Given the description of an element on the screen output the (x, y) to click on. 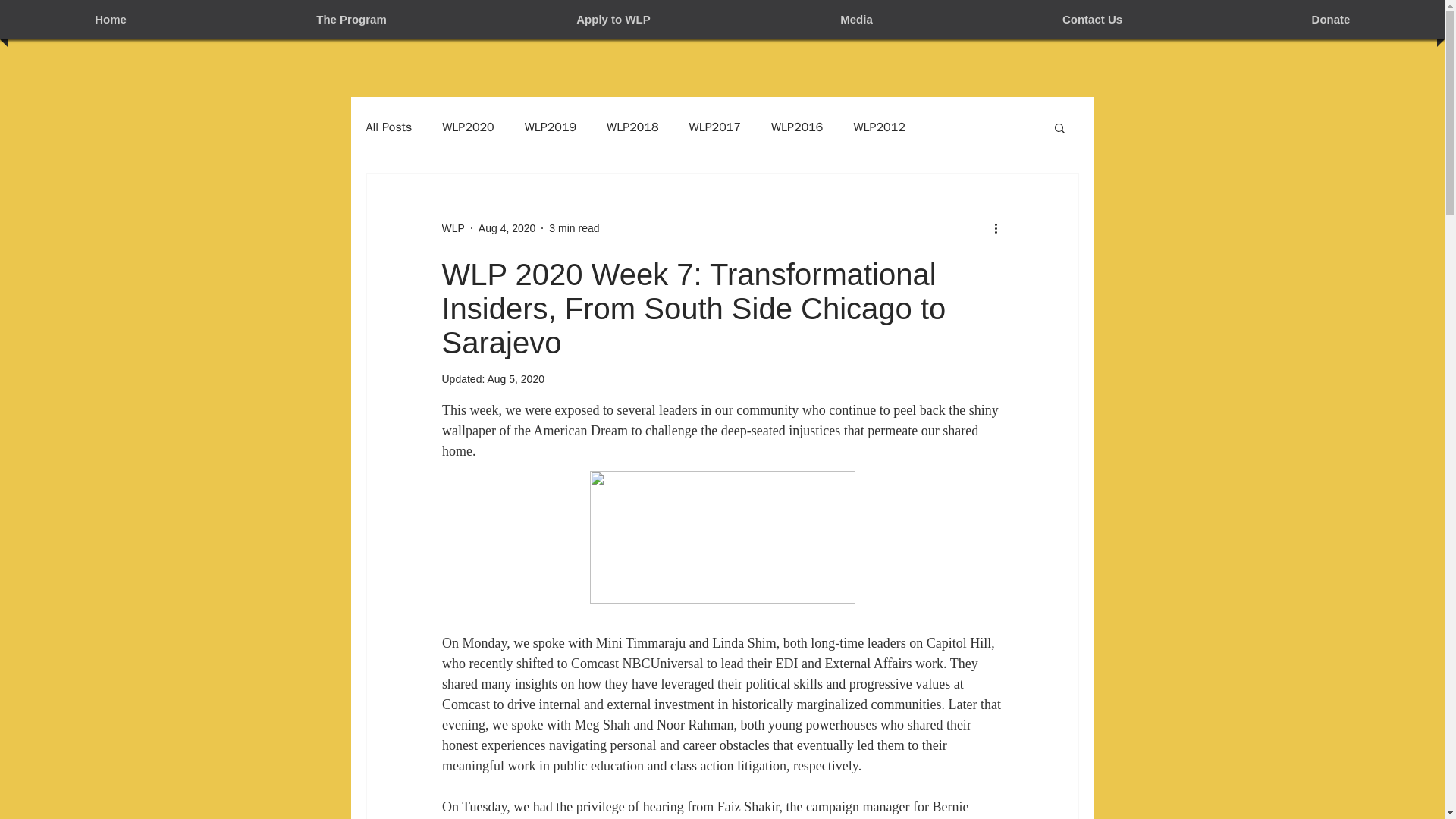
WLP2020 (467, 127)
Aug 5, 2020 (515, 378)
Donate (1331, 19)
WLP2012 (878, 127)
All Posts (388, 127)
WLP2017 (714, 127)
WLP (452, 227)
3 min read (573, 227)
WLP2018 (632, 127)
Aug 4, 2020 (507, 227)
